Given the description of an element on the screen output the (x, y) to click on. 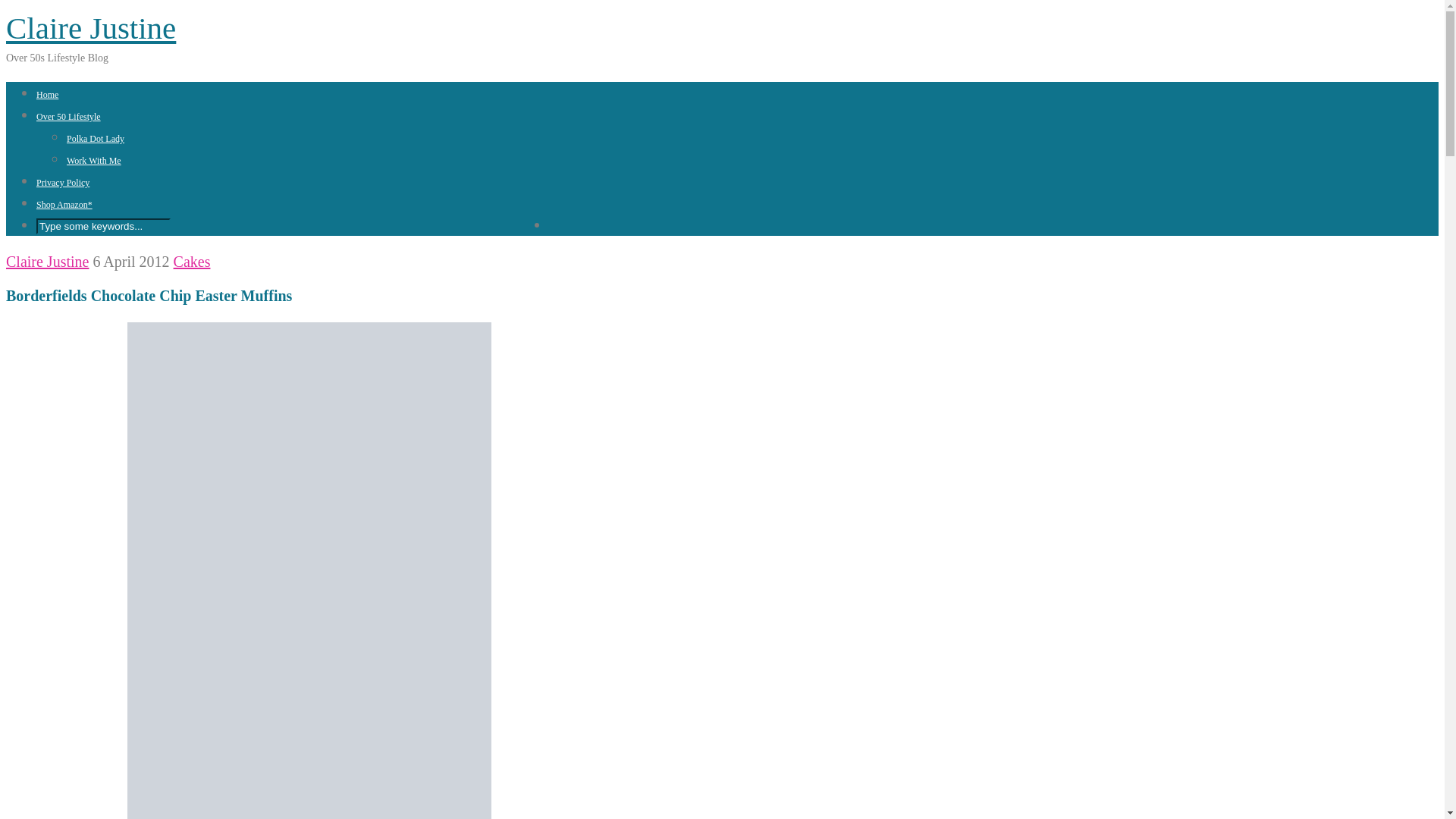
Over 50 Lifestyle (68, 116)
Cakes (192, 261)
Polka Dot Lady (94, 138)
Posts by Claire Justine (46, 261)
Home (47, 94)
Privacy Policy (62, 182)
Claire Justine (90, 27)
Work With Me (93, 160)
Claire Justine (90, 27)
Claire Justine (46, 261)
